Given the description of an element on the screen output the (x, y) to click on. 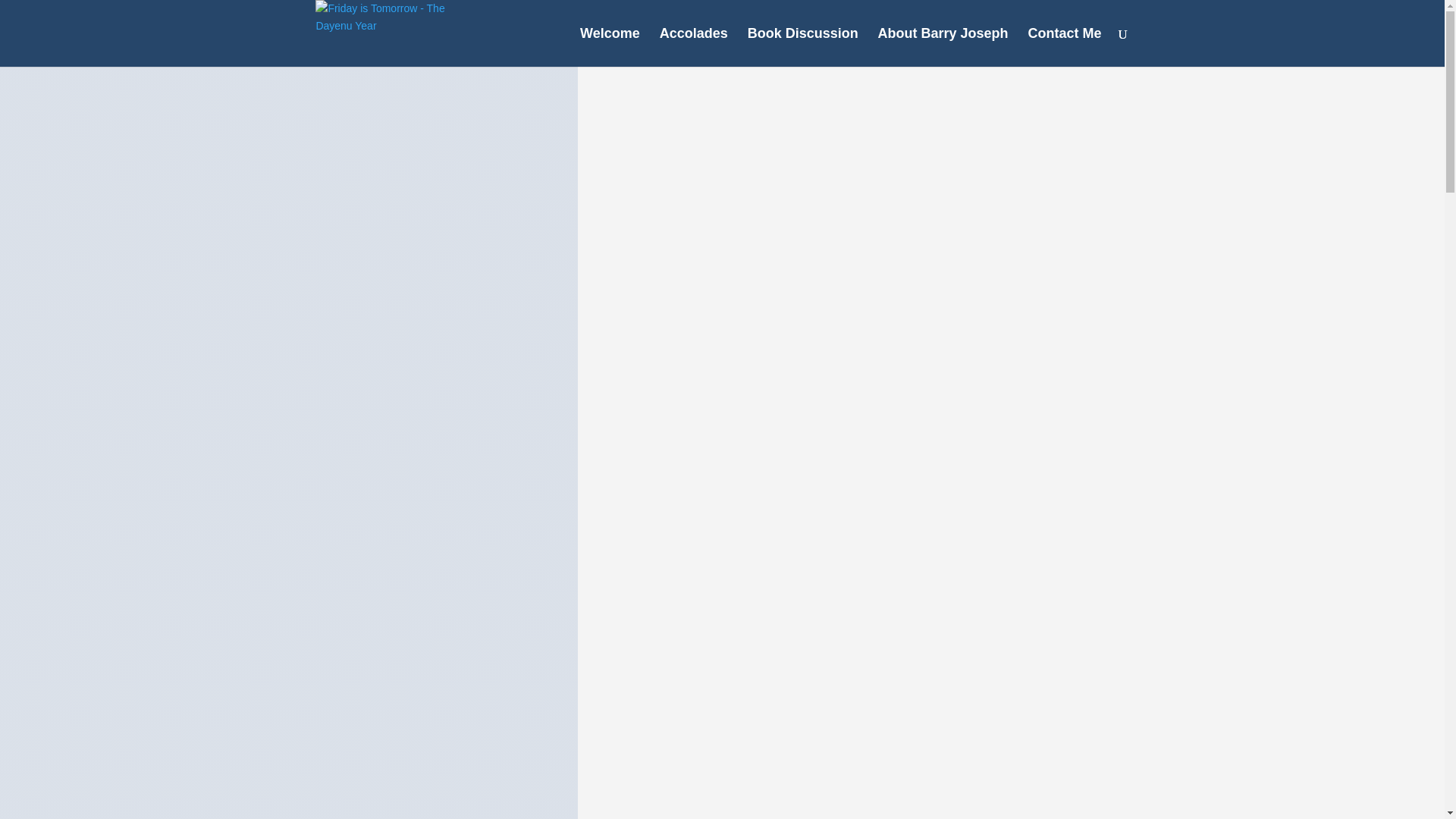
Accolades (693, 46)
Contact Me (1063, 46)
Book Discussion (803, 46)
About Barry Joseph (943, 46)
Welcome (609, 46)
